Given the description of an element on the screen output the (x, y) to click on. 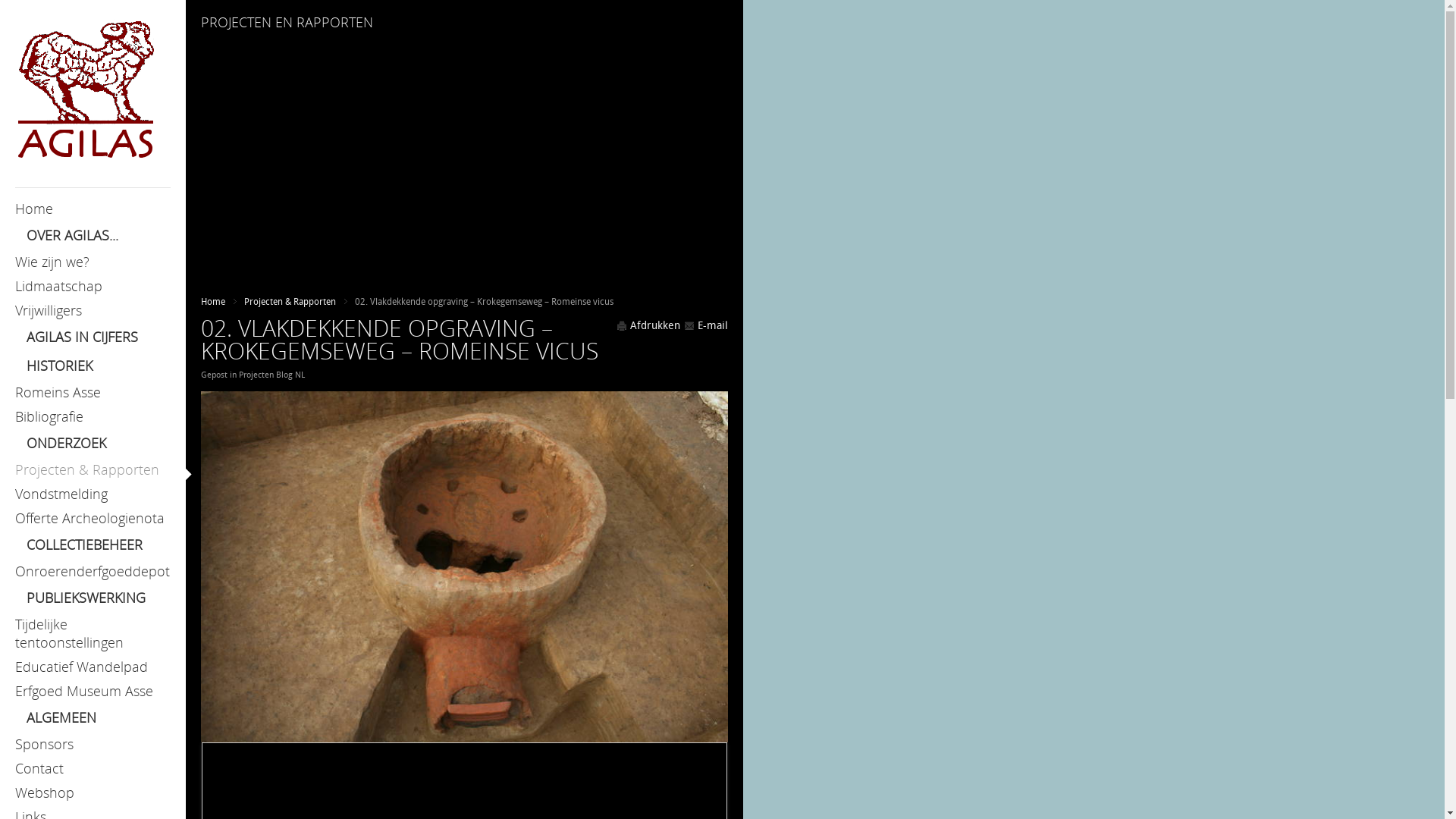
Afdrukken Element type: text (648, 325)
Vrijwilligers Element type: text (92, 310)
Home Element type: text (92, 208)
Vondstmelding Element type: text (92, 493)
Lidmaatschap Element type: text (92, 285)
Erfgoed Museum Asse Element type: text (92, 690)
Educatief Wandelpad Element type: text (92, 666)
Projecten & Rapporten Element type: text (295, 301)
Wie zijn we? Element type: text (92, 261)
Romeins Asse Element type: text (92, 391)
Projecten & Rapporten Element type: text (92, 469)
Offerte Archeologienota Element type: text (92, 517)
E-mail Element type: text (706, 325)
Contact Element type: text (92, 768)
Bibliografie Element type: text (92, 416)
Tijdelijke tentoonstellingen Element type: text (92, 633)
Home Element type: text (218, 301)
Onroerenderfgoeddepot Element type: text (92, 570)
Webshop Element type: text (92, 792)
Sponsors Element type: text (92, 743)
